Given the description of an element on the screen output the (x, y) to click on. 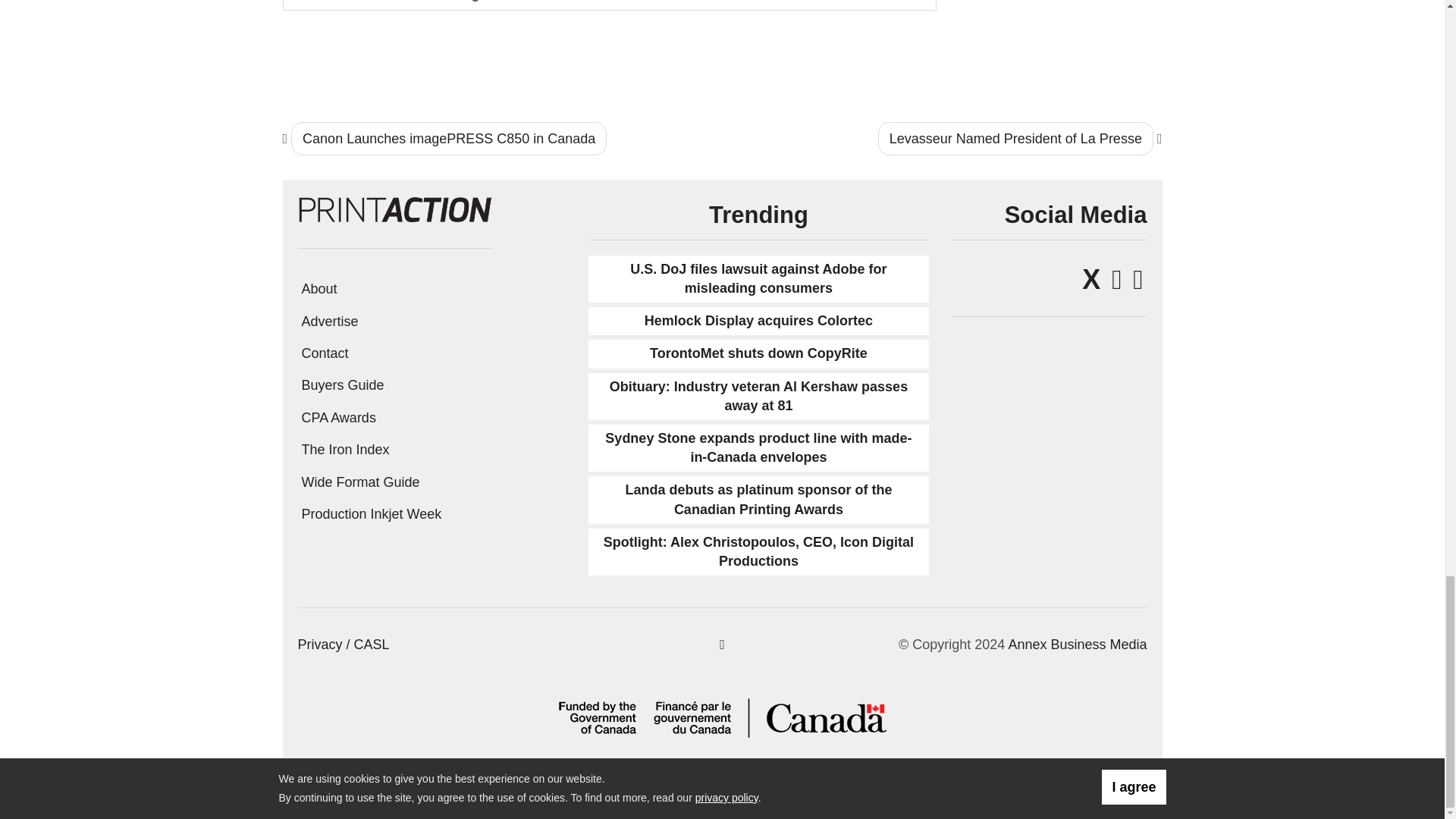
Annex Business Media (1077, 644)
PrintAction (395, 208)
